Given the description of an element on the screen output the (x, y) to click on. 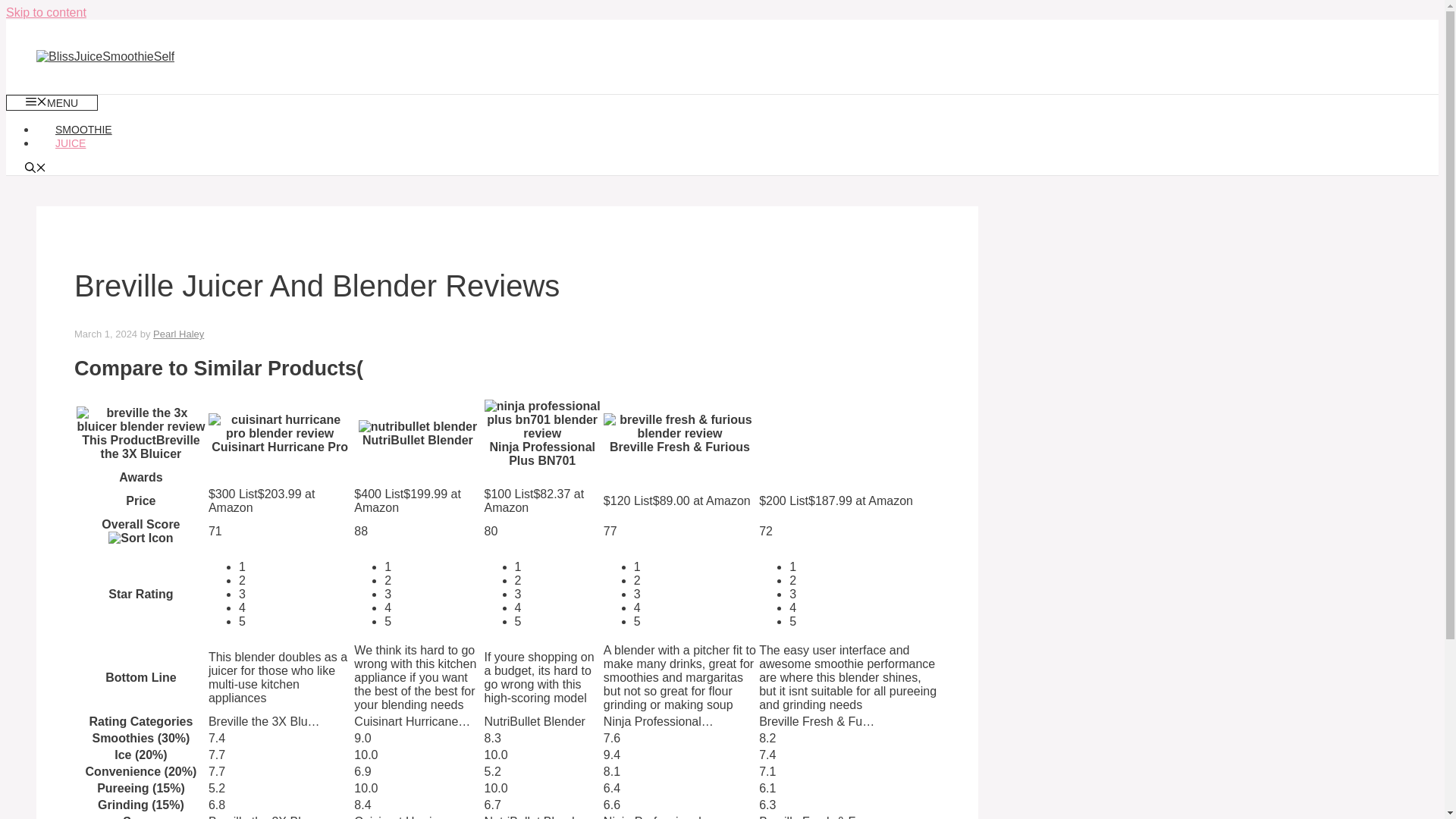
View all posts by Pearl Haley (177, 333)
Skip to content (45, 11)
Pearl Haley (177, 333)
Skip to content (45, 11)
Click on any Rating Category to sort by that metric. (140, 721)
SMOOTHIE (83, 129)
JUICE (70, 143)
MENU (51, 102)
